Given the description of an element on the screen output the (x, y) to click on. 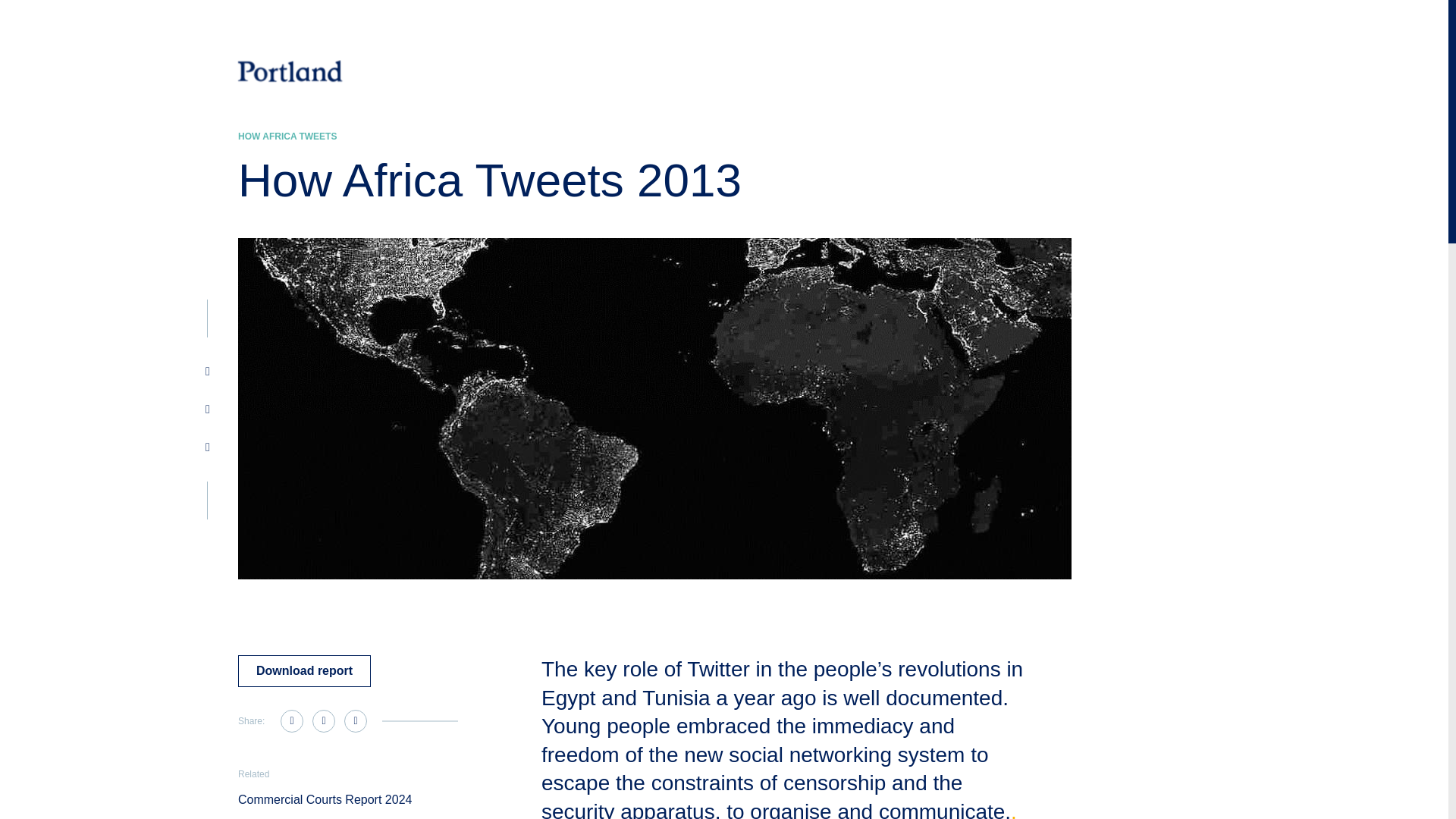
Commercial Courts Report 2024 (325, 799)
Tweet It (354, 721)
Share at LinkedIn (323, 721)
Download report (304, 671)
Share at Facebook (291, 721)
HOW AFRICA TWEETS (287, 136)
